Given the description of an element on the screen output the (x, y) to click on. 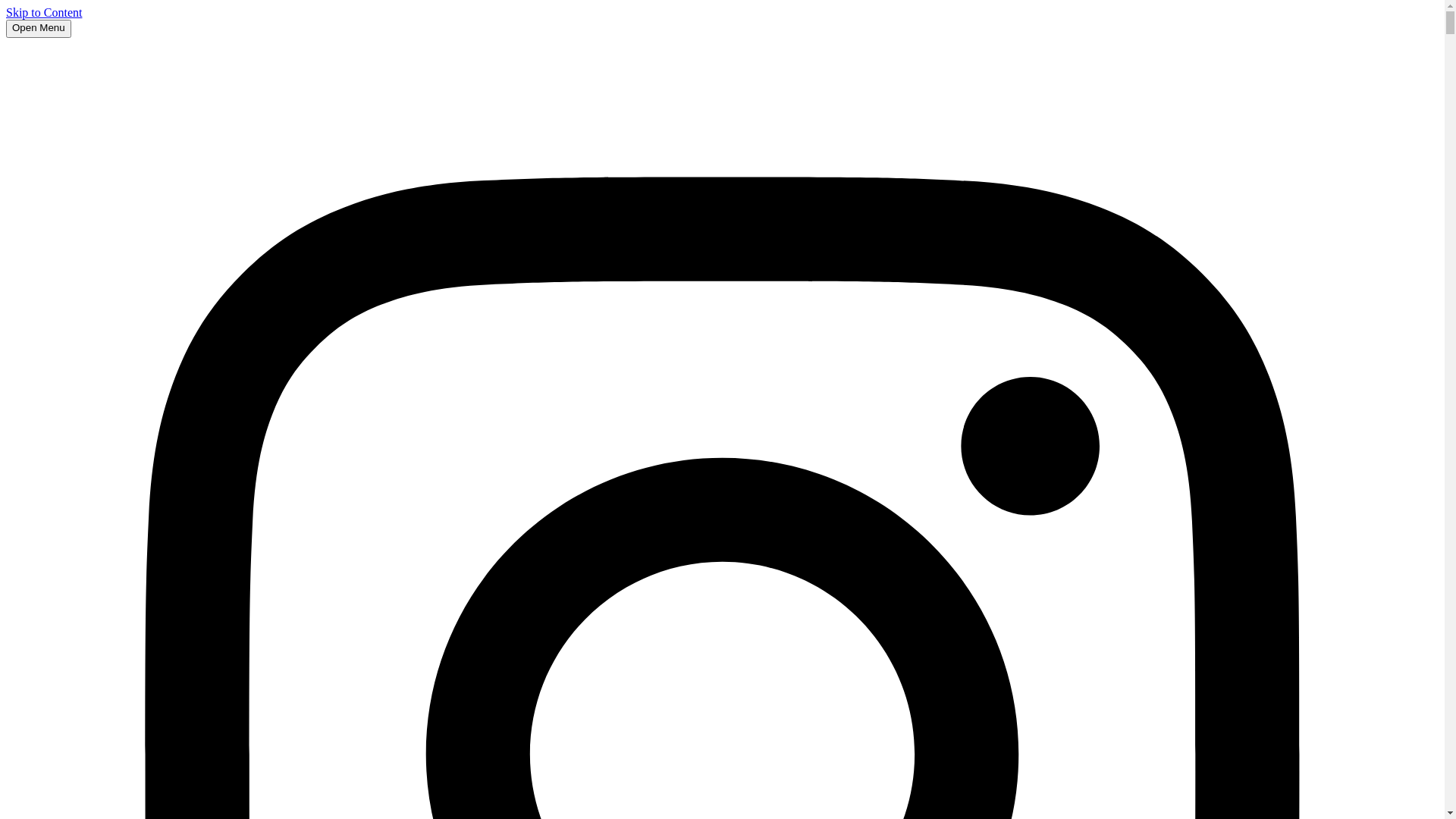
Skip to Content Element type: text (43, 12)
Open Menu Element type: text (38, 28)
